Given the description of an element on the screen output the (x, y) to click on. 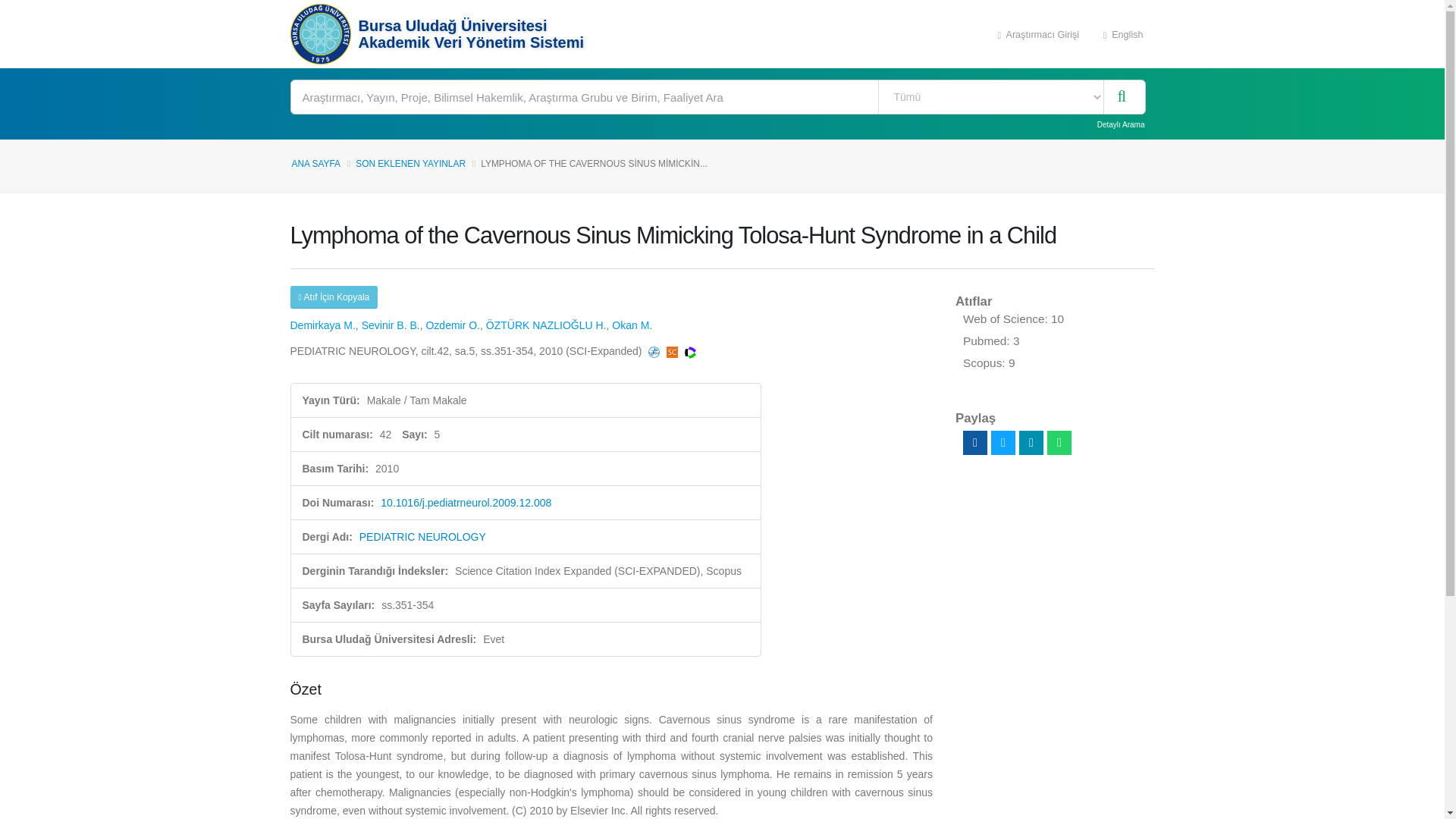
ANA SAYFA (315, 163)
PEDIATRIC NEUROLOGY (422, 536)
Demirkaya M. (322, 325)
Metin Demirkaya (322, 325)
Ozlem Ozdemir (452, 325)
Okan M. (631, 325)
Sevinir B. B. (390, 325)
Mehmet Okan (631, 325)
English (1123, 33)
Ozdemir O. (452, 325)
